Given the description of an element on the screen output the (x, y) to click on. 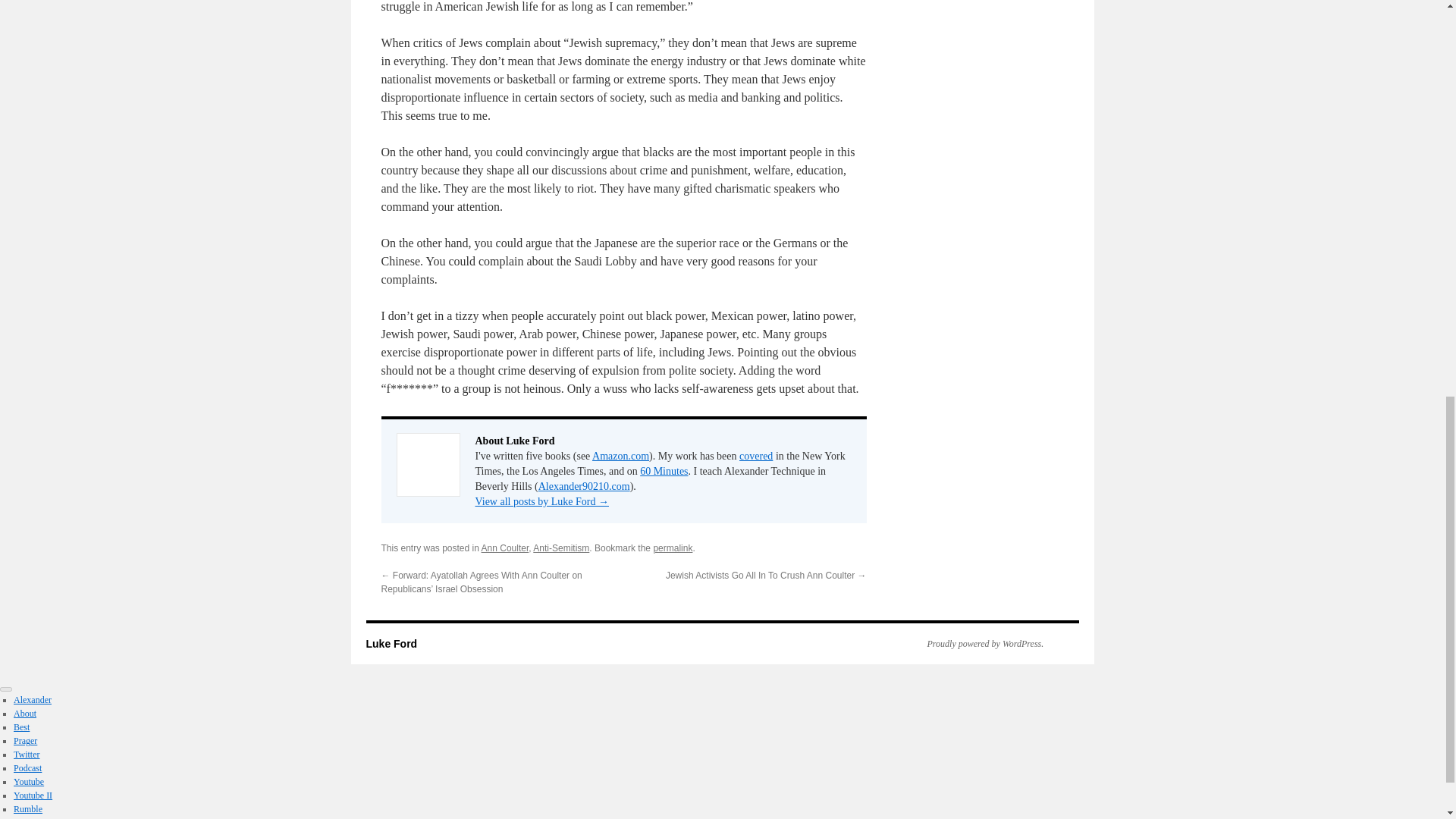
60 Minutes (663, 471)
Anti-Semitism (560, 547)
Amazon.com (620, 455)
Alexander90210.com (584, 486)
Ann Coulter (505, 547)
Semantic Personal Publishing Platform (977, 644)
covered (756, 455)
permalink (672, 547)
